Given the description of an element on the screen output the (x, y) to click on. 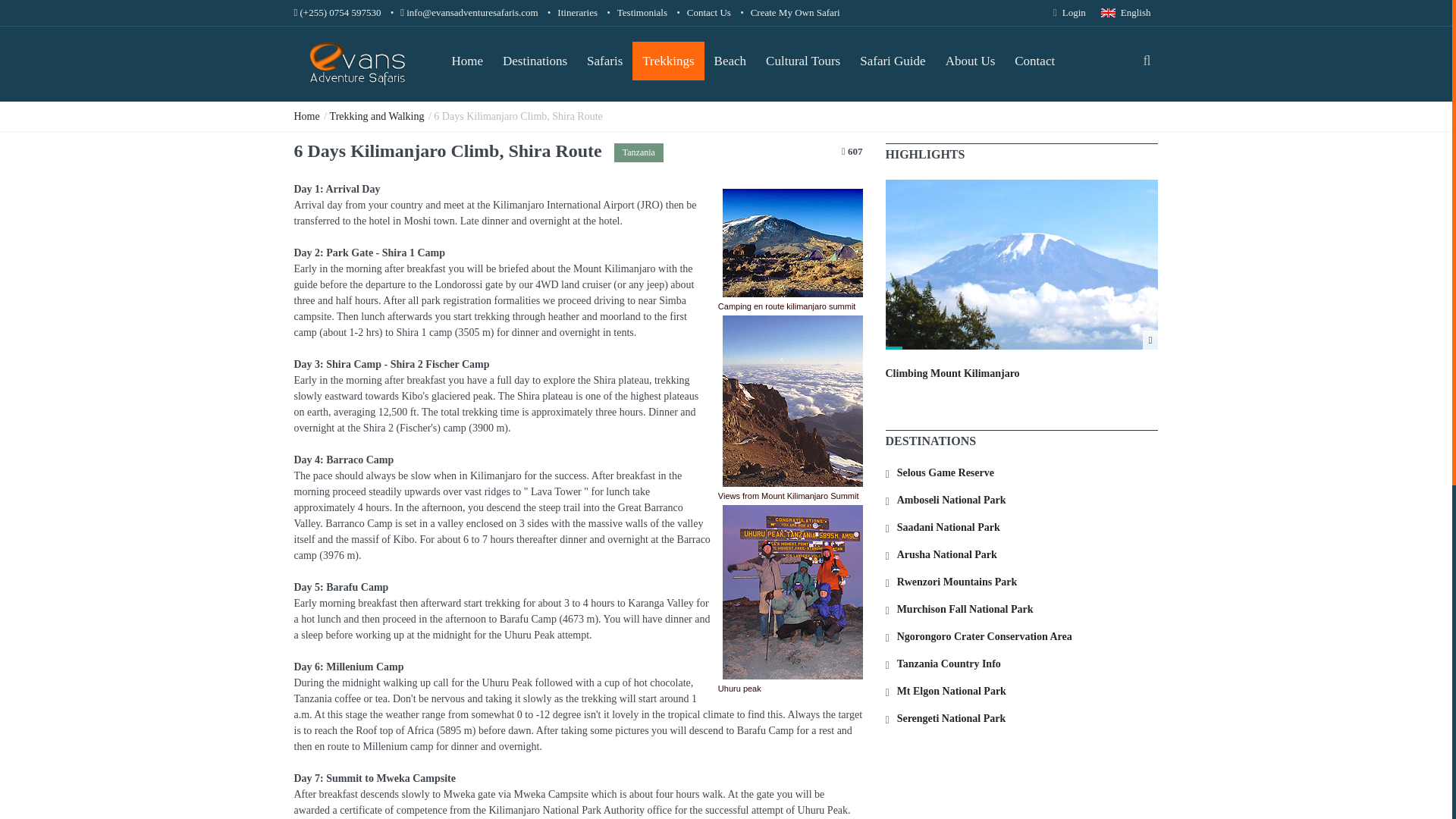
English (1125, 12)
Home (467, 60)
Destinations (534, 60)
Itineraries (576, 12)
Login (1069, 12)
Create My Own Safari (795, 12)
Contact Us (708, 12)
Testimonials (641, 12)
